Given the description of an element on the screen output the (x, y) to click on. 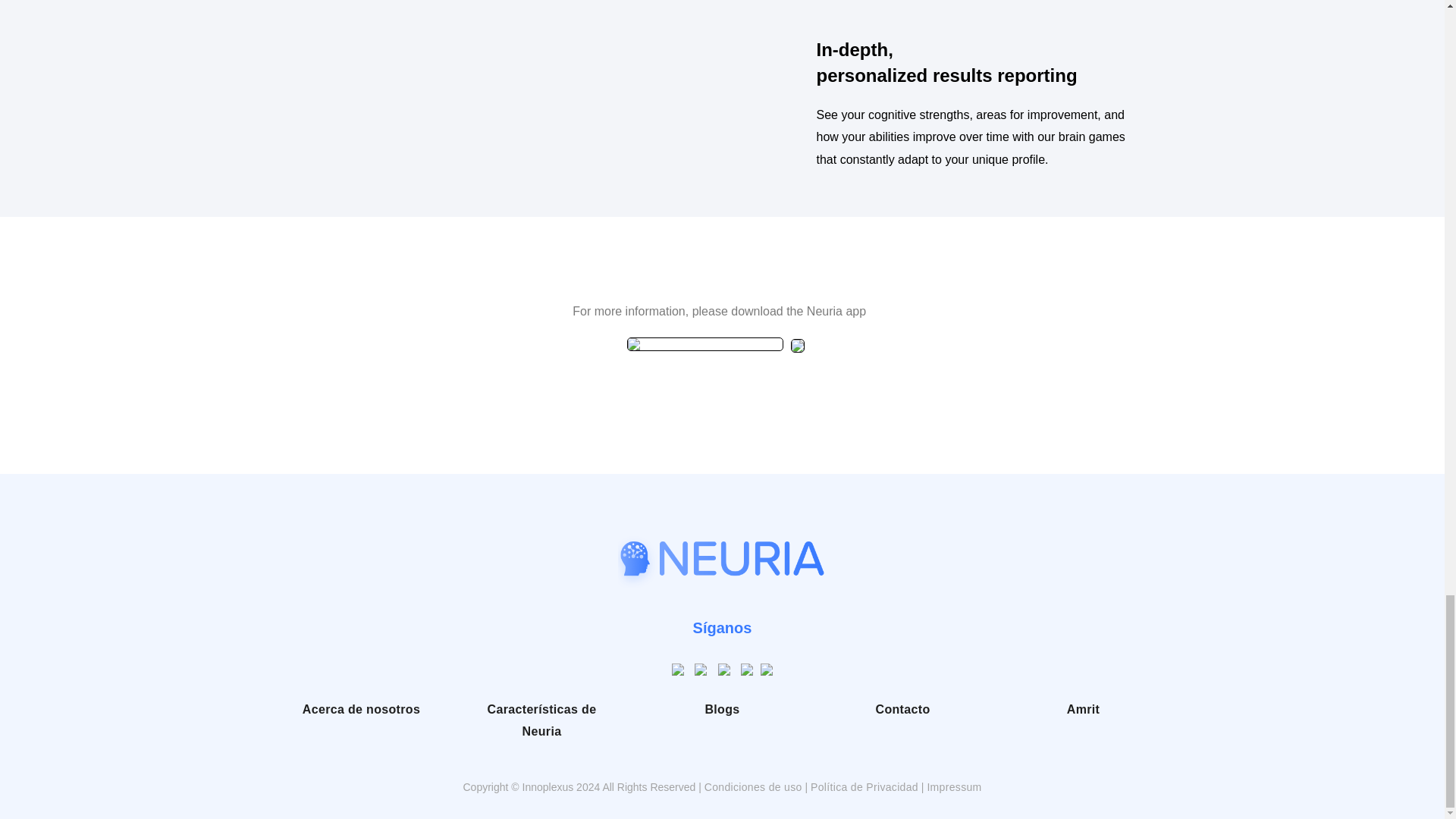
Condiciones de uso (753, 789)
Blogs (721, 711)
Contacto (902, 711)
Acerca de nosotros (360, 711)
Amrit (1082, 711)
